Given the description of an element on the screen output the (x, y) to click on. 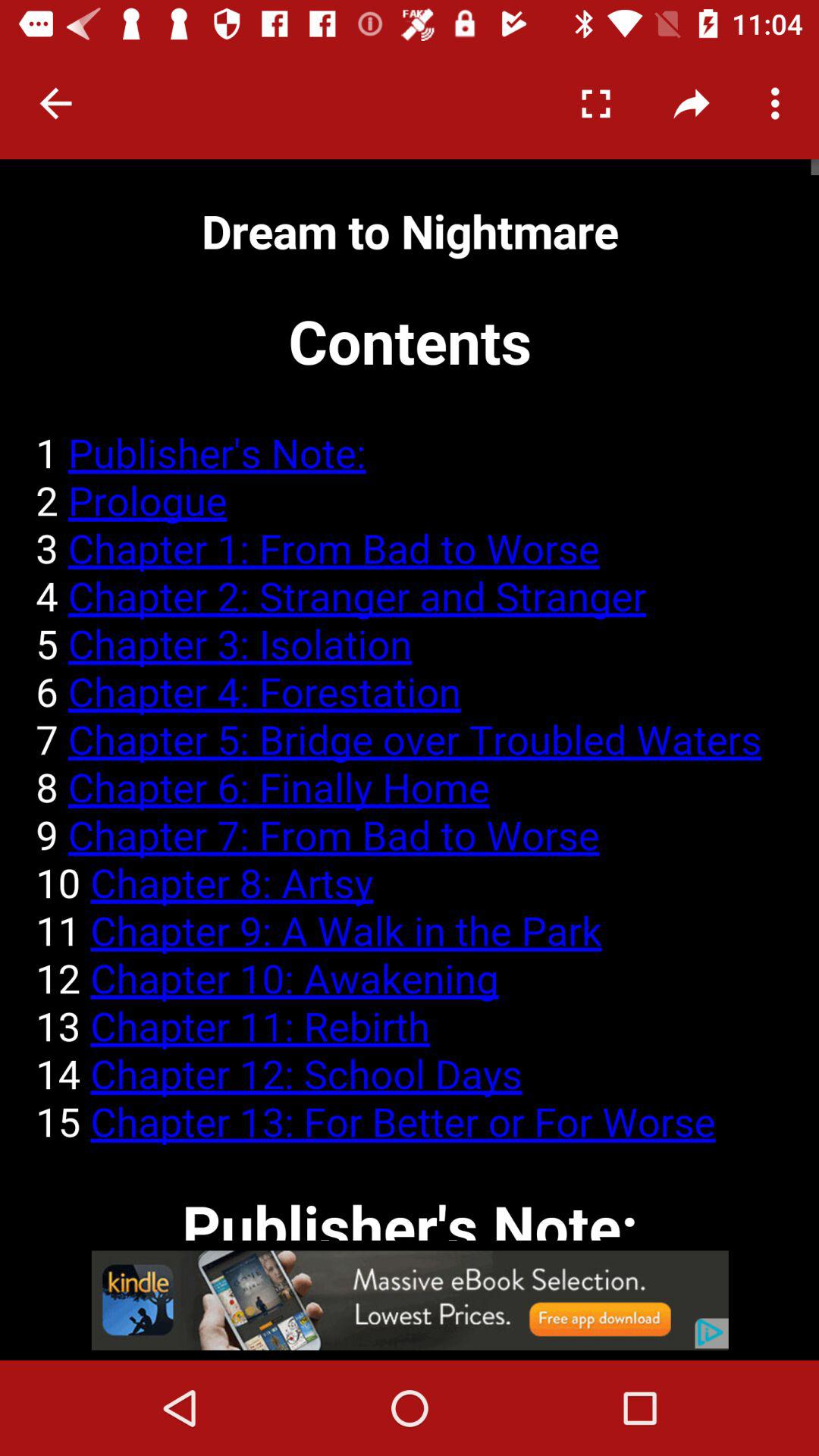
advertisement (409, 1300)
